Given the description of an element on the screen output the (x, y) to click on. 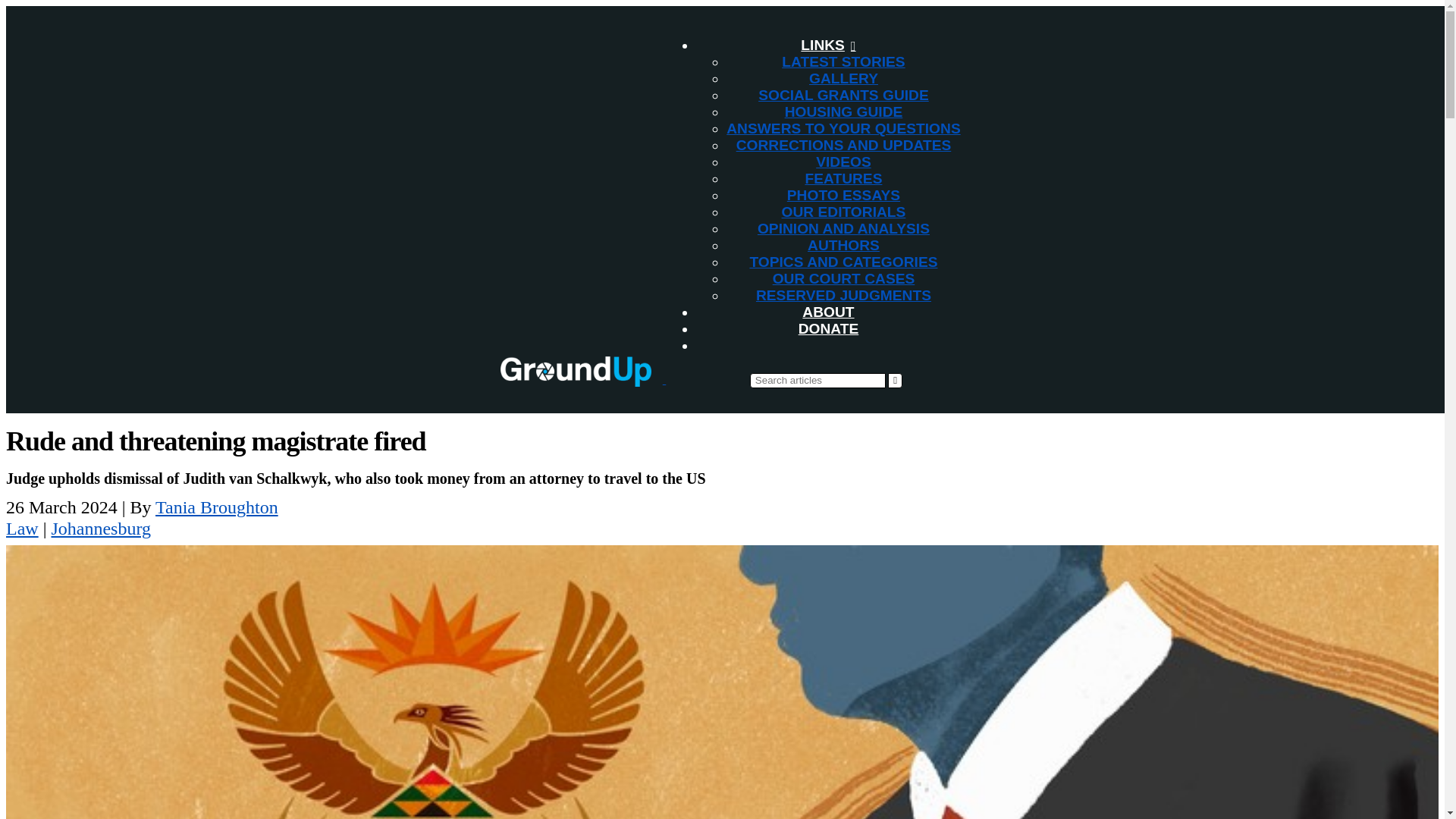
RESERVED JUDGMENTS (843, 295)
OUR EDITORIALS (843, 211)
Law (22, 528)
Tania Broughton (216, 506)
OPINION AND ANALYSIS (843, 228)
GALLERY (843, 78)
Johannesburg (100, 528)
VIDEOS (842, 161)
FEATURES (843, 178)
OUR COURT CASES (844, 278)
SOCIAL GRANTS GUIDE (843, 94)
CORRECTIONS AND UPDATES (844, 145)
PHOTO ESSAYS (843, 195)
ANSWERS TO YOUR QUESTIONS (842, 128)
HOUSING GUIDE (843, 111)
